Given the description of an element on the screen output the (x, y) to click on. 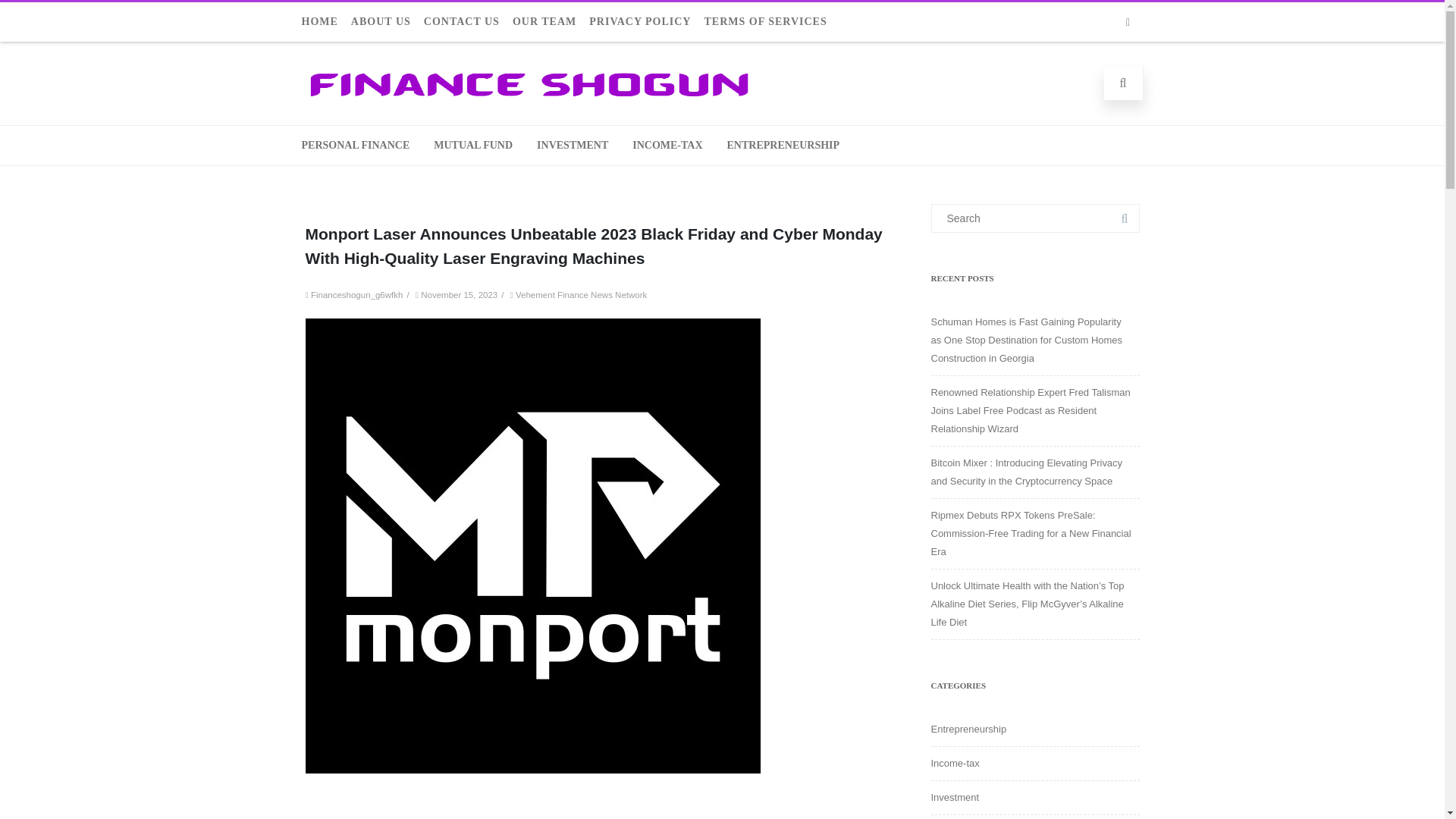
ABOUT US (386, 21)
OUR TEAM (550, 21)
INCOME-TAX (667, 145)
Search for: (1035, 217)
Vehement Finance News Network (580, 294)
INVESTMENT (572, 145)
TERMS OF SERVICES (770, 21)
Finance Shogun (529, 101)
MUTUAL FUND (473, 145)
PERSONAL FINANCE (354, 145)
HOME (325, 21)
ENTREPRENEURSHIP (783, 145)
PRIVACY POLICY (645, 21)
CONTACT US (467, 21)
